Given the description of an element on the screen output the (x, y) to click on. 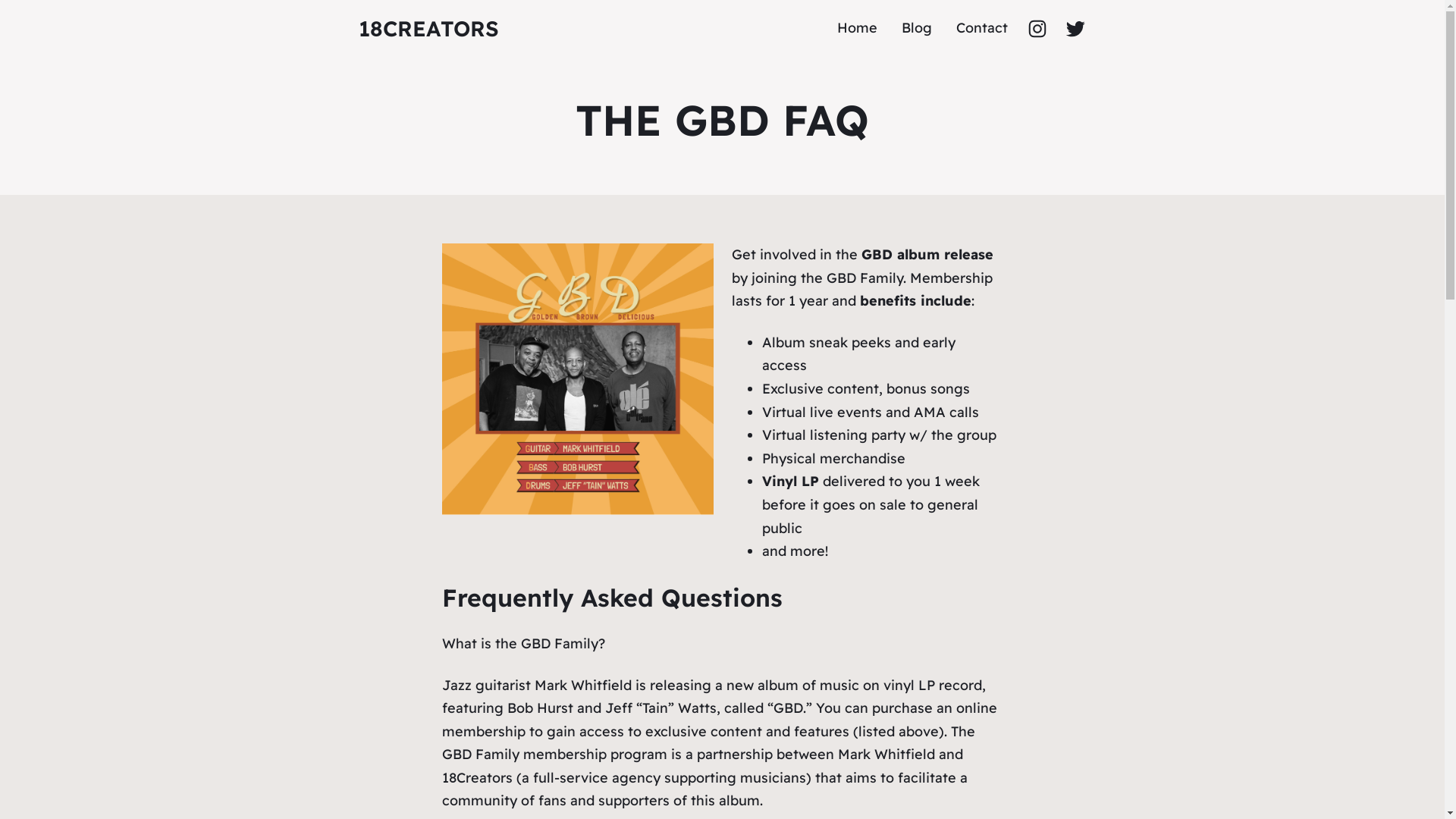
Contact Element type: text (981, 28)
18CREATORS Element type: text (427, 28)
Blog Element type: text (915, 28)
Twitter Element type: text (1074, 27)
Home Element type: text (857, 28)
Instagram Element type: text (1036, 27)
